Given the description of an element on the screen output the (x, y) to click on. 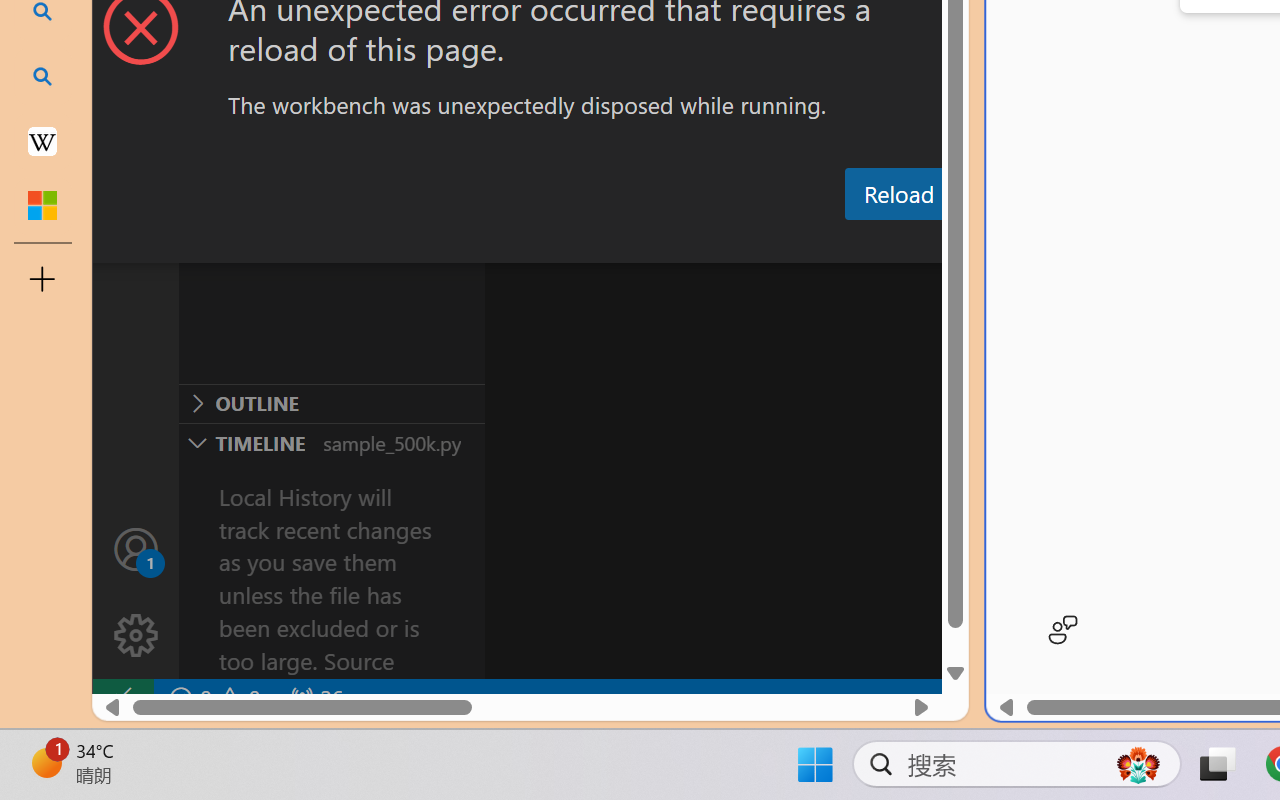
remote (122, 698)
No Problems (212, 698)
Terminal (Ctrl+`) (1021, 243)
Outline Section (331, 403)
Earth - Wikipedia (42, 140)
